Given the description of an element on the screen output the (x, y) to click on. 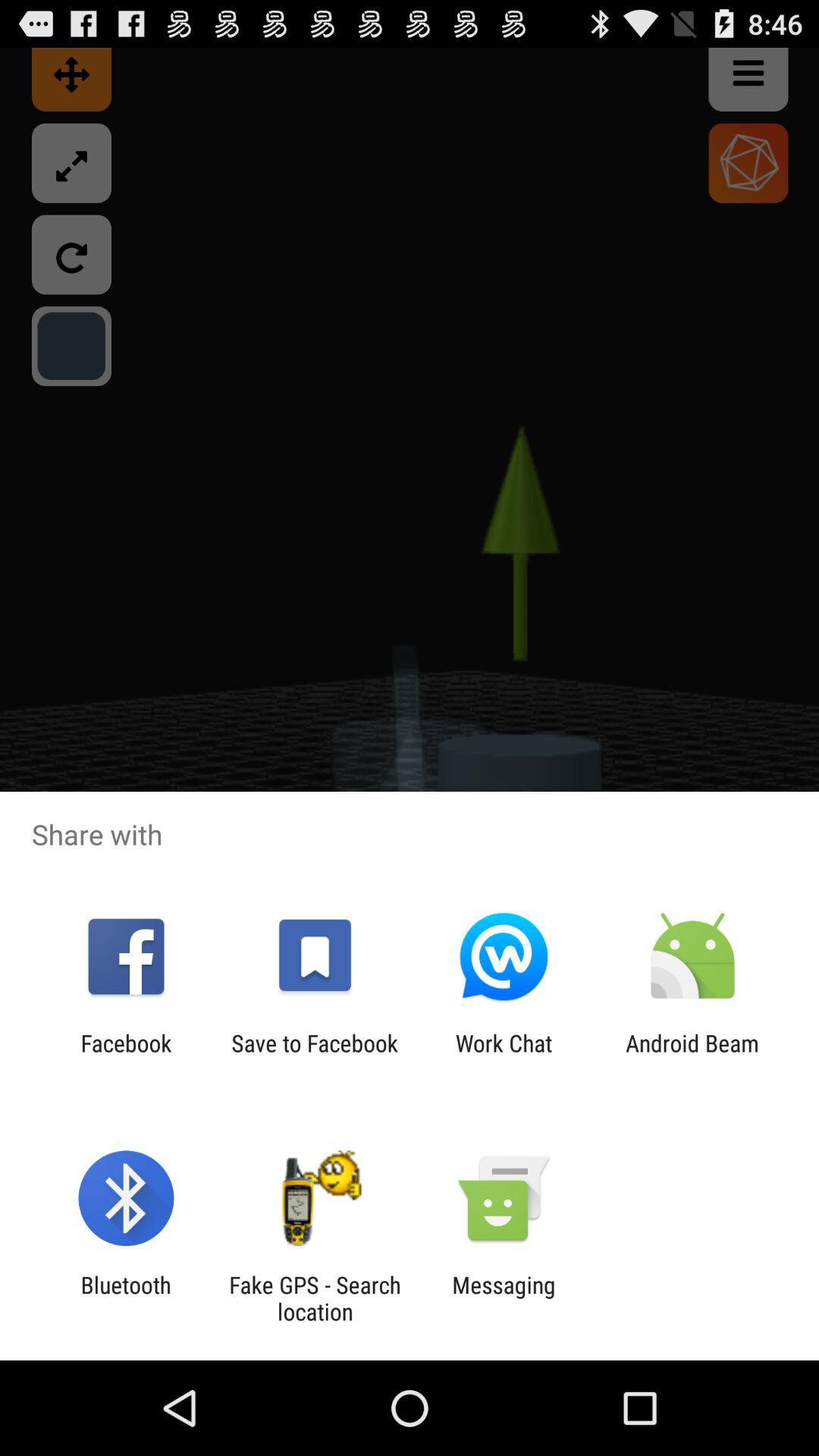
press app to the right of the fake gps search app (503, 1298)
